Given the description of an element on the screen output the (x, y) to click on. 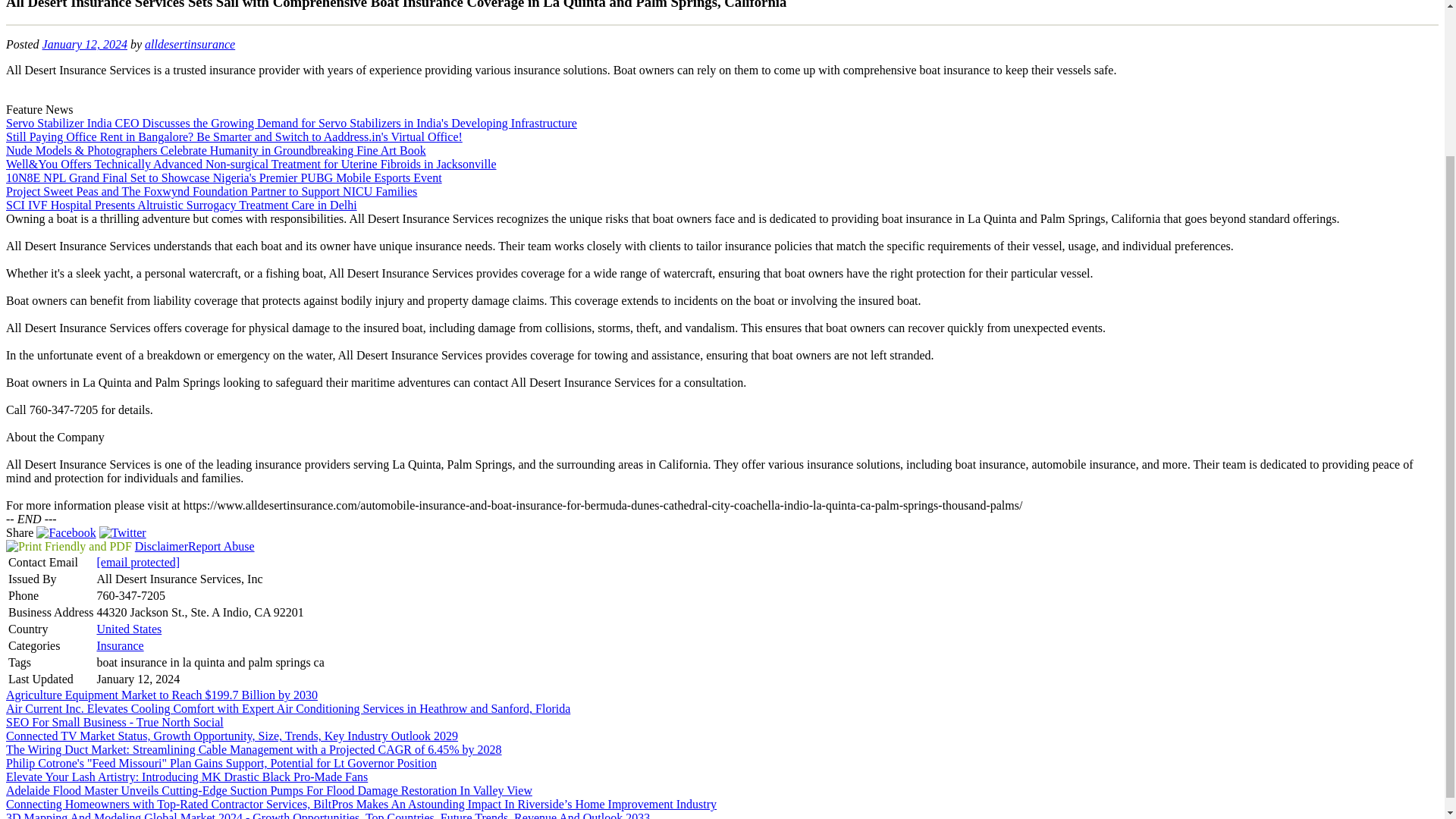
Printer Friendly and PDF (68, 545)
Insurance (119, 645)
United States (128, 628)
Report Abuse (220, 545)
